Given the description of an element on the screen output the (x, y) to click on. 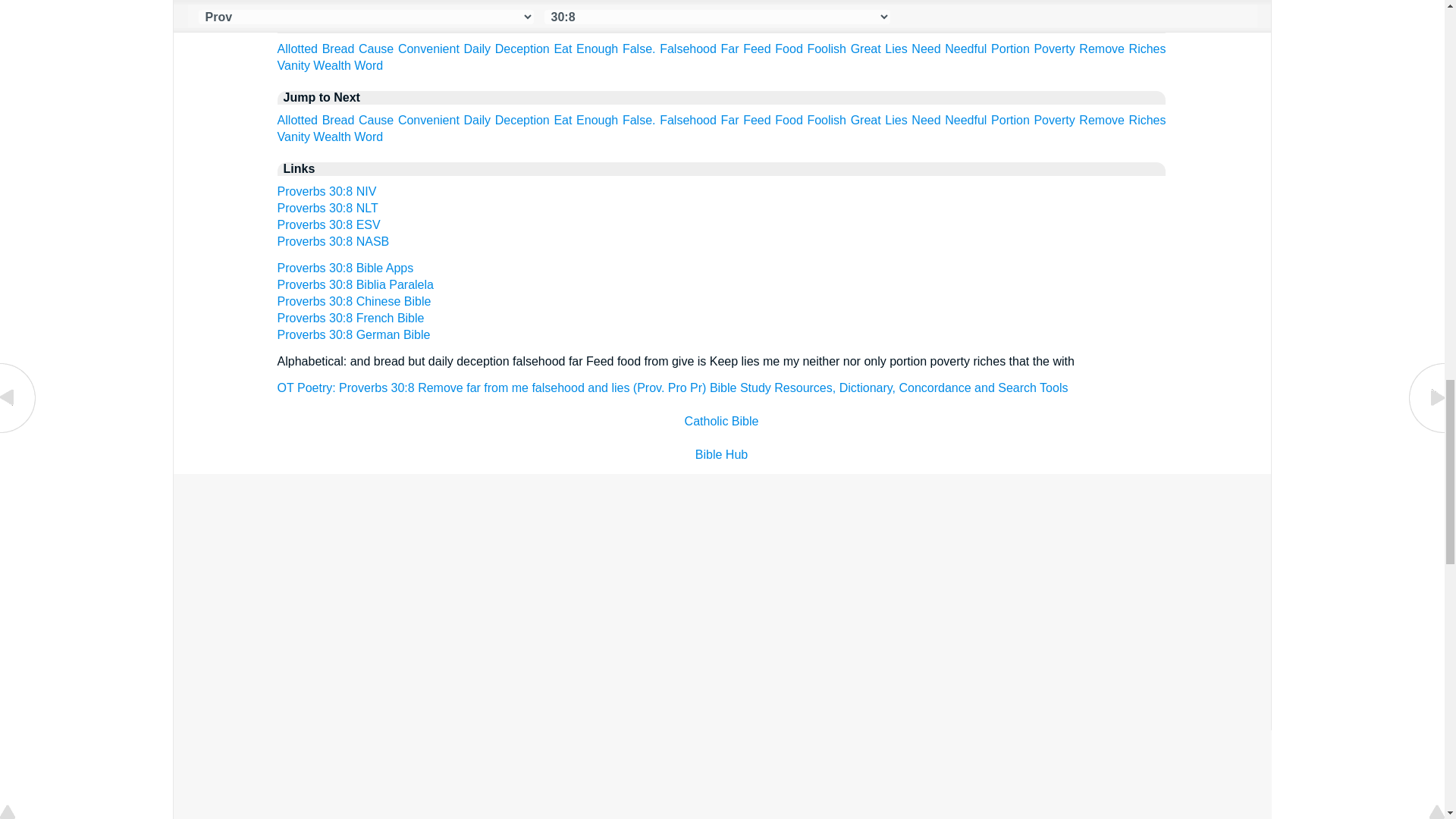
Allotted (297, 48)
Advertisement (721, 584)
Cause (375, 48)
Convenient (428, 48)
Daily (478, 48)
Bread (338, 48)
